Given the description of an element on the screen output the (x, y) to click on. 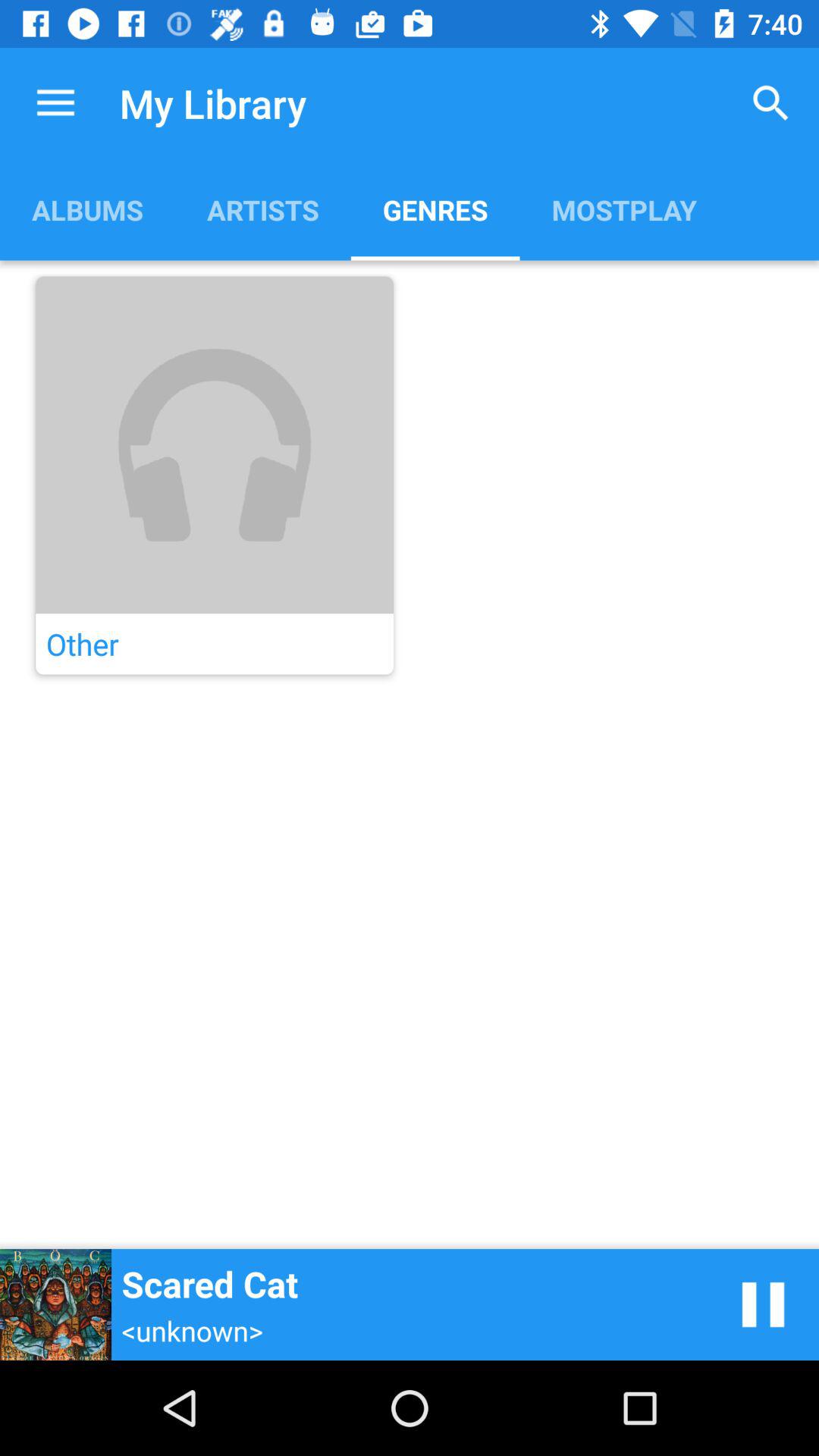
click the item at the bottom right corner (763, 1304)
